Given the description of an element on the screen output the (x, y) to click on. 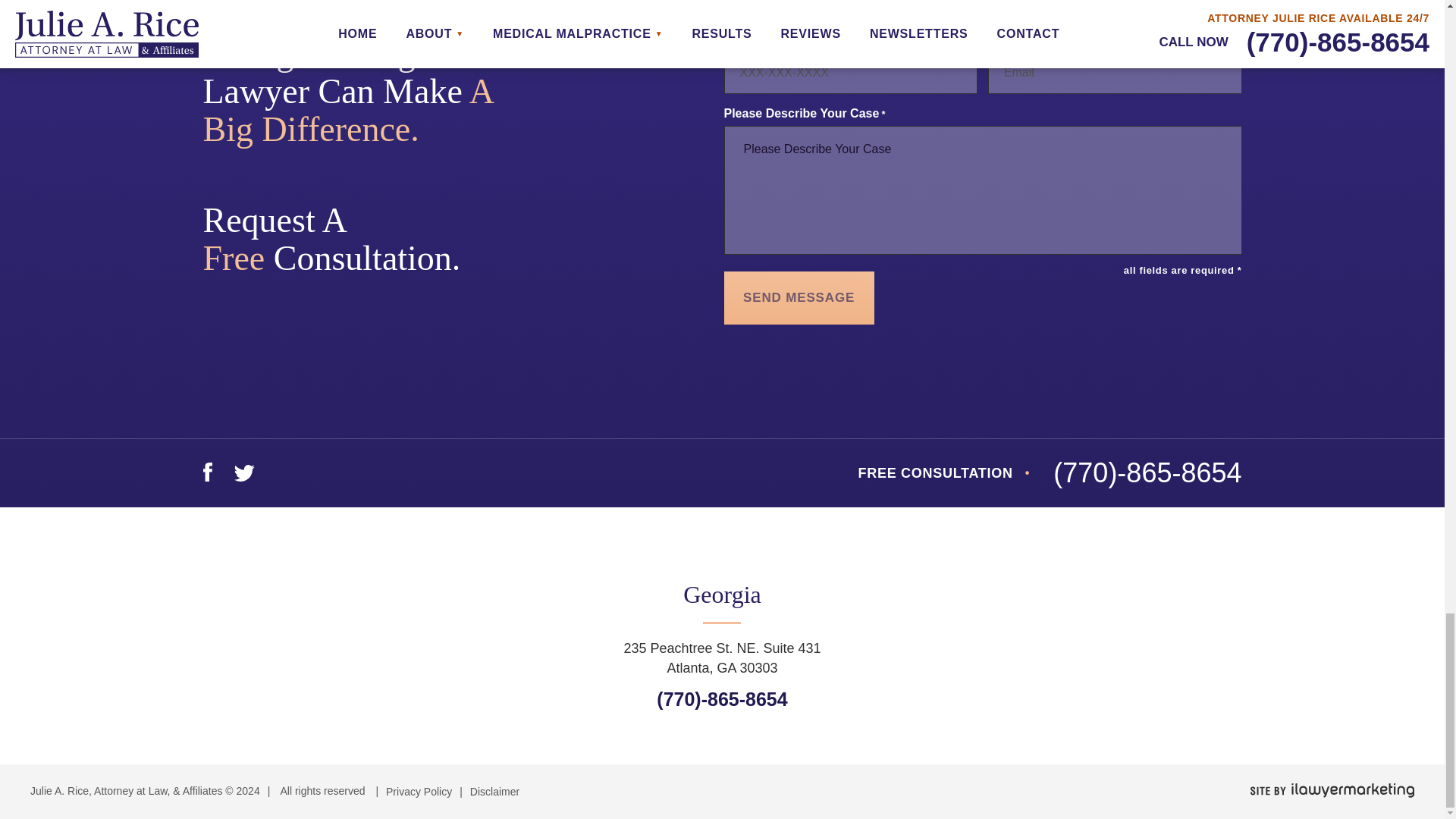
Send Message (798, 297)
